Given the description of an element on the screen output the (x, y) to click on. 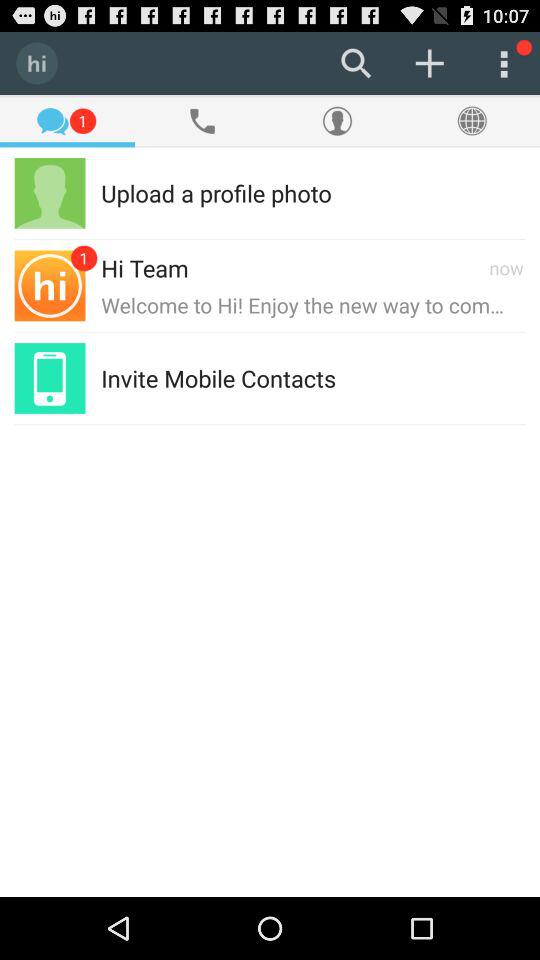
turn on the item below the hi team item (313, 304)
